Given the description of an element on the screen output the (x, y) to click on. 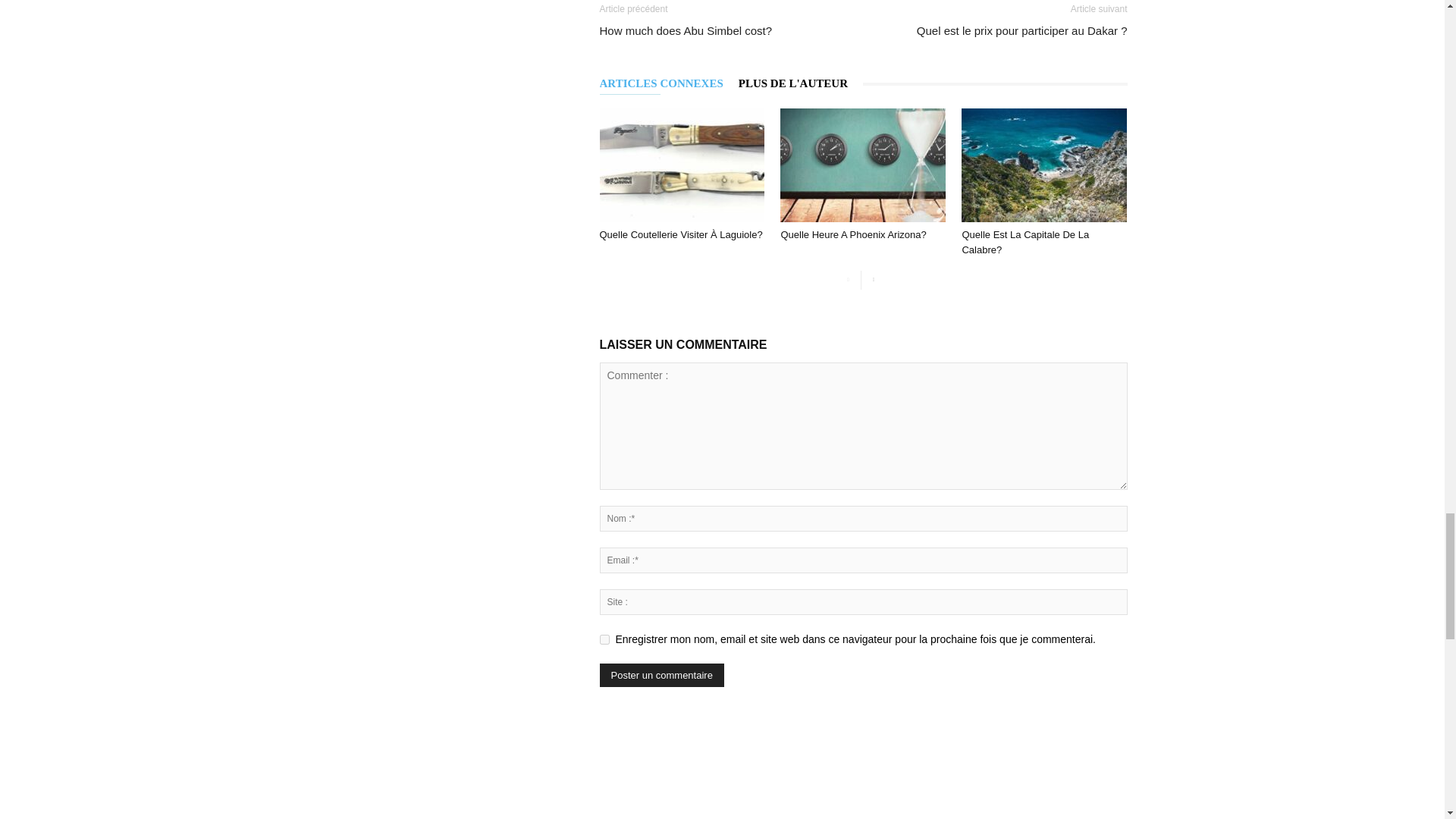
Poster un commentaire (660, 675)
yes (603, 639)
